Given the description of an element on the screen output the (x, y) to click on. 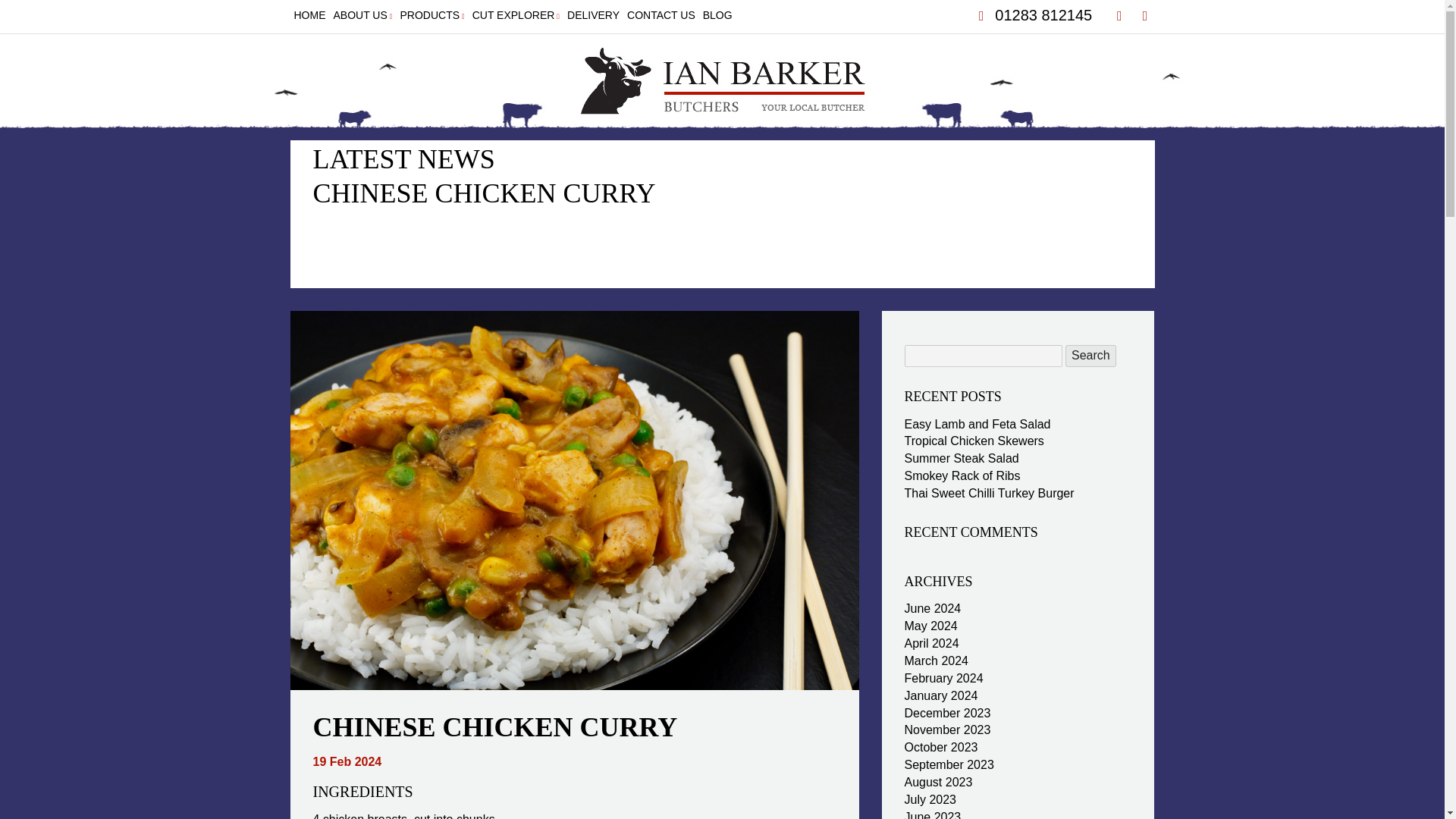
CONTACT US (660, 15)
PRODUCTS (431, 15)
Ian Barker Butchers - Chinese Chicken Curry (721, 81)
ABOUT US (362, 15)
HOME (309, 15)
DELIVERY (593, 15)
Search (1090, 355)
BLOG (717, 15)
01283 812145 (1032, 15)
CUT EXPLORER (515, 15)
